Given the description of an element on the screen output the (x, y) to click on. 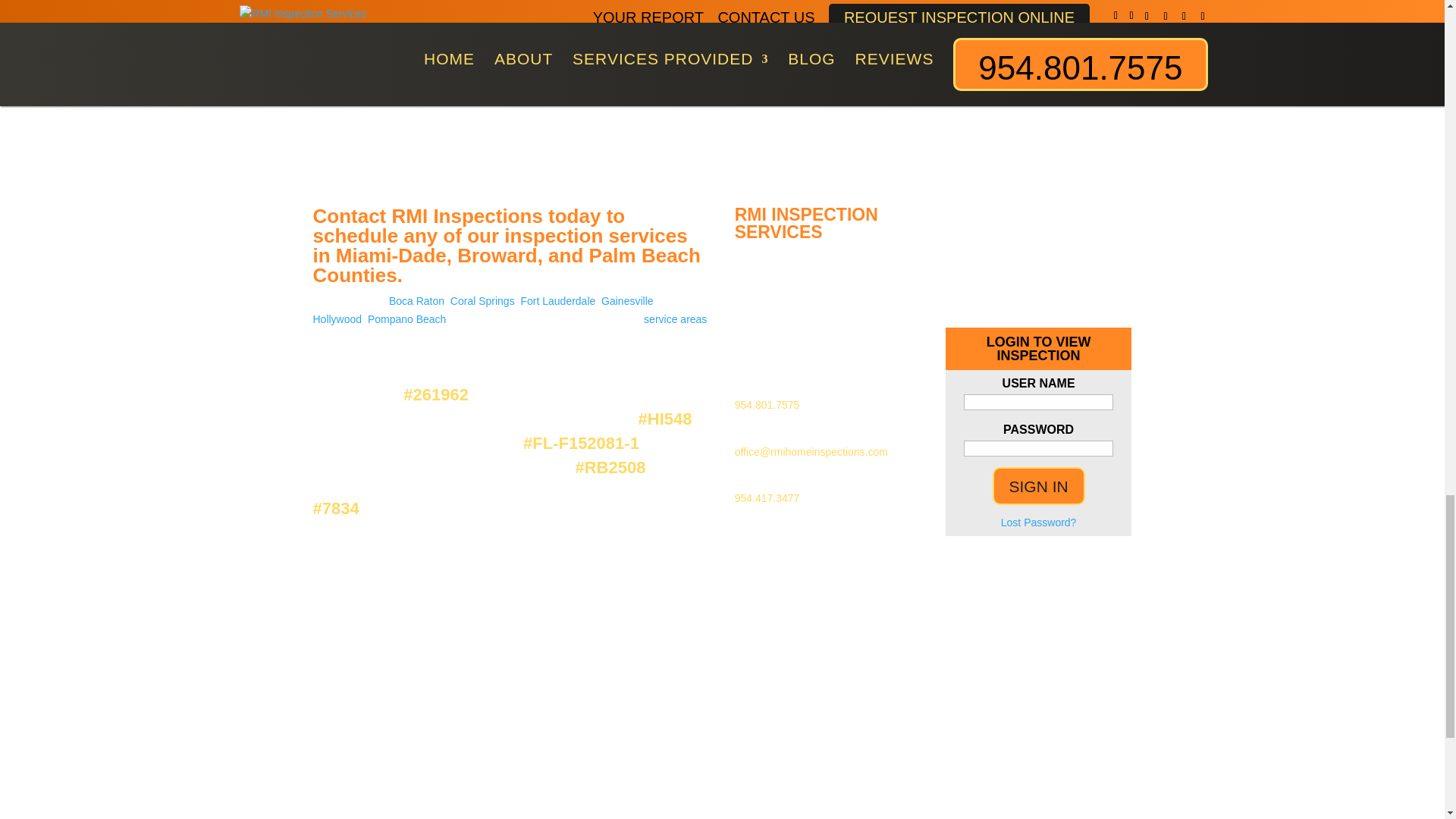
Fort Lauderdale (557, 300)
Sign In (1038, 485)
Boca Raton (416, 300)
Coral Springs (482, 300)
